Given the description of an element on the screen output the (x, y) to click on. 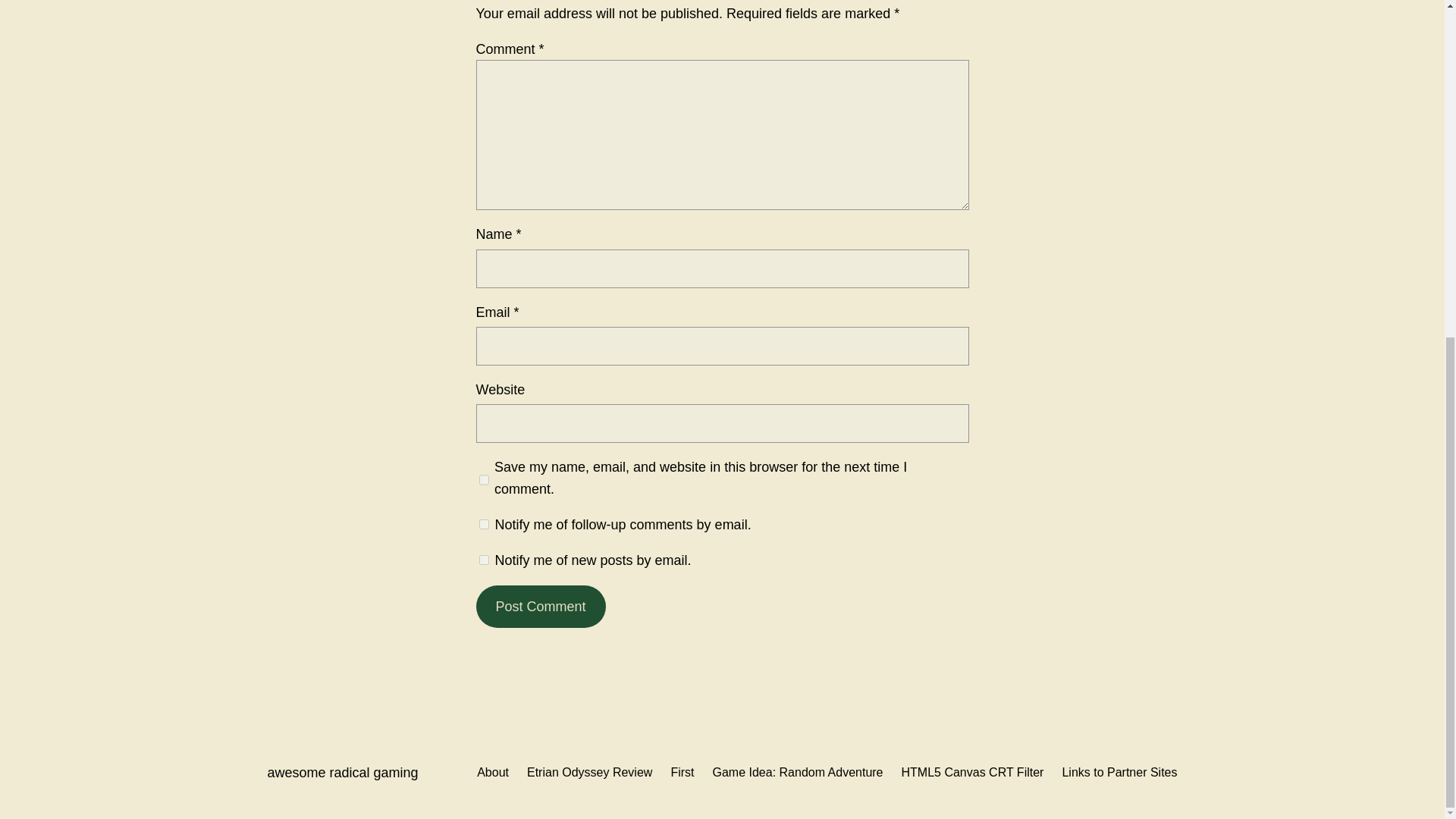
About (492, 772)
Game Idea: Random Adventure (796, 772)
subscribe (484, 524)
HTML5 Canvas CRT Filter (972, 772)
Links to Partner Sites (1118, 772)
Post Comment (540, 606)
subscribe (484, 560)
awesome radical gaming (341, 772)
Post Comment (540, 606)
First (681, 772)
Etrian Odyssey Review (589, 772)
